Given the description of an element on the screen output the (x, y) to click on. 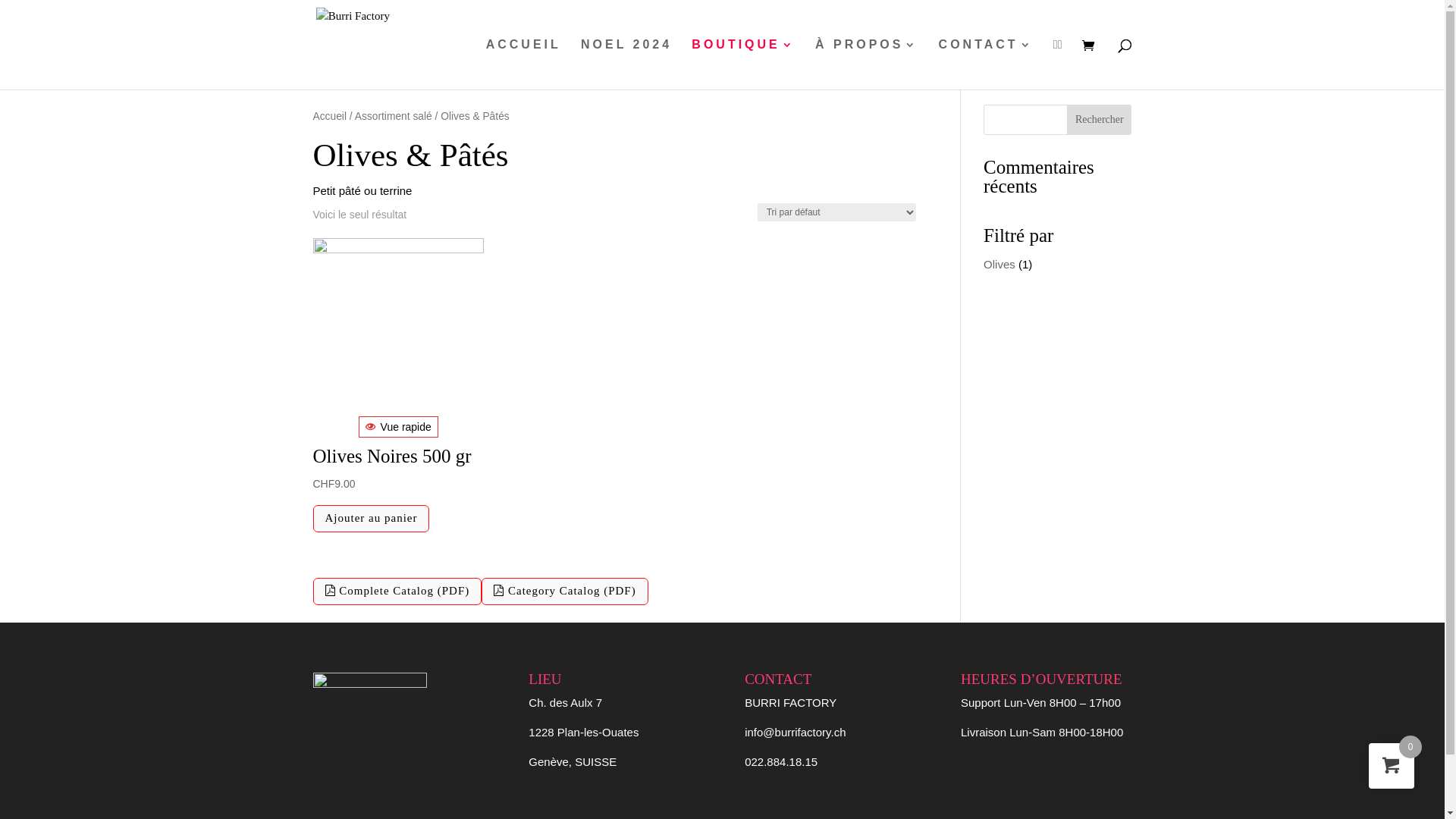
CONTACT Element type: text (985, 64)
Category Catalog (PDF) Element type: text (564, 591)
Ajouter au panier Element type: text (370, 519)
Olives Element type: text (999, 264)
NOEL 2024 Element type: text (625, 64)
Rechercher Element type: text (1098, 119)
Olives Noires 500 gr
CHF9.00 Element type: text (397, 480)
Accueil Element type: text (328, 116)
Vue rapide Element type: text (398, 426)
ACCUEIL Element type: text (523, 64)
BOUTIQUE Element type: text (742, 64)
Complete Catalog (PDF) Element type: text (396, 591)
